Given the description of an element on the screen output the (x, y) to click on. 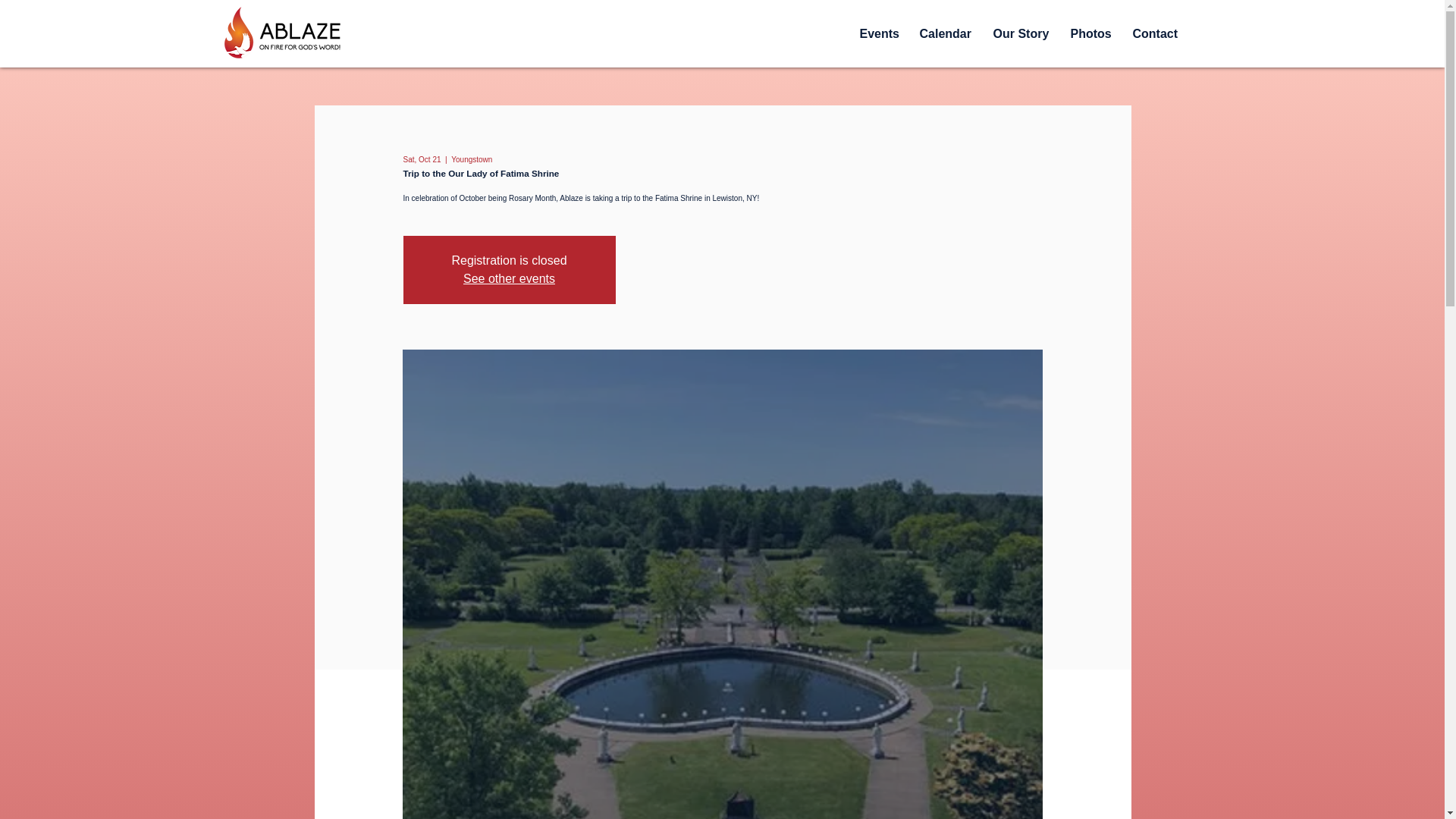
Photos (1089, 34)
Ablaze full logo.png (280, 33)
Events (877, 34)
See other events (508, 278)
Our Story (1019, 34)
Contact (1154, 34)
Calendar (944, 34)
